Given the description of an element on the screen output the (x, y) to click on. 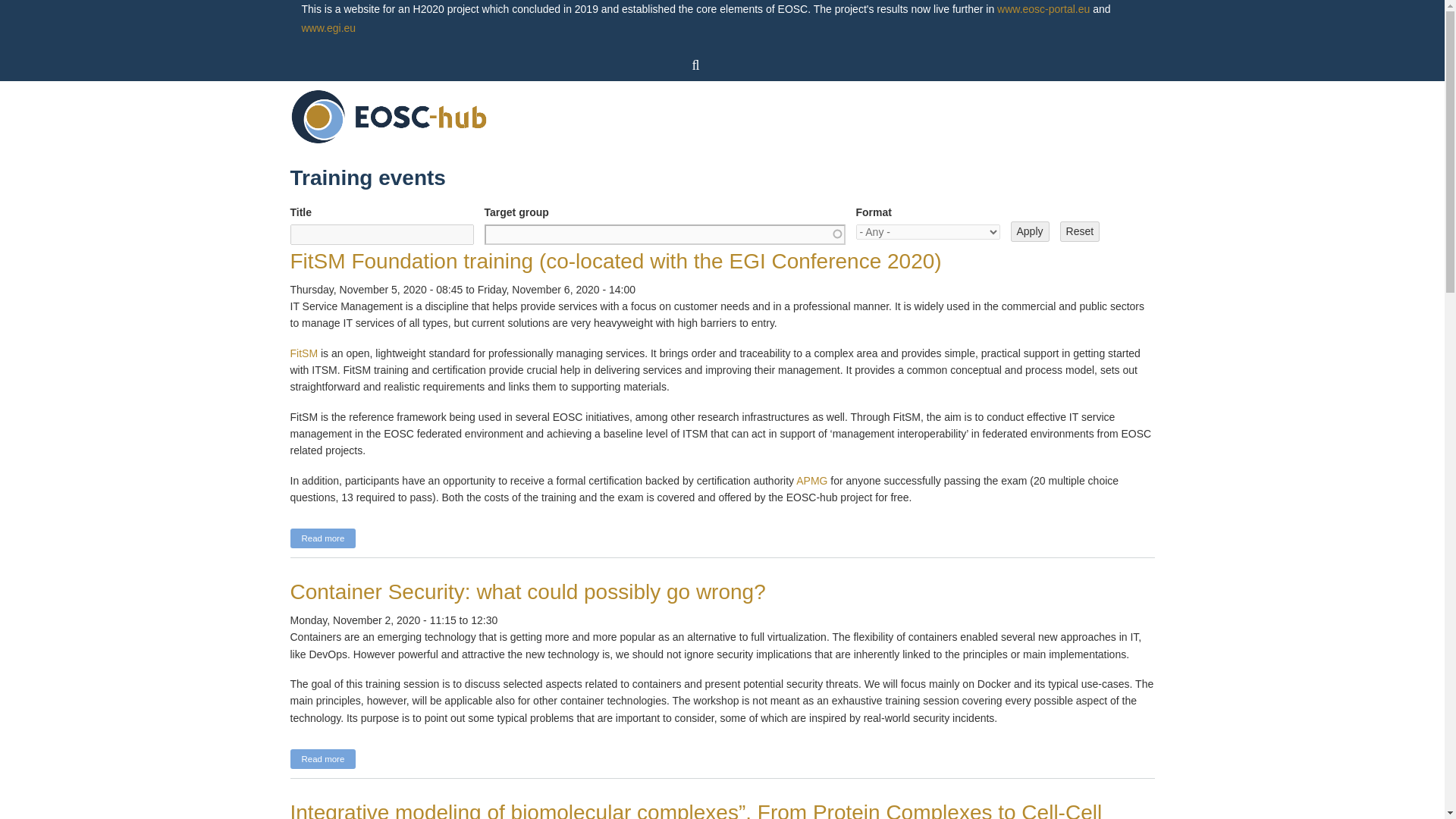
Apply (1029, 231)
Container Security: what could possibly go wrong? (322, 759)
Home (389, 115)
www.eosc-portal.eu (1043, 9)
Reset (1079, 231)
Apply (1029, 231)
www.egi.eu (328, 28)
Skip to main content (690, 1)
Reset (1079, 231)
FitSM (303, 353)
